Given the description of an element on the screen output the (x, y) to click on. 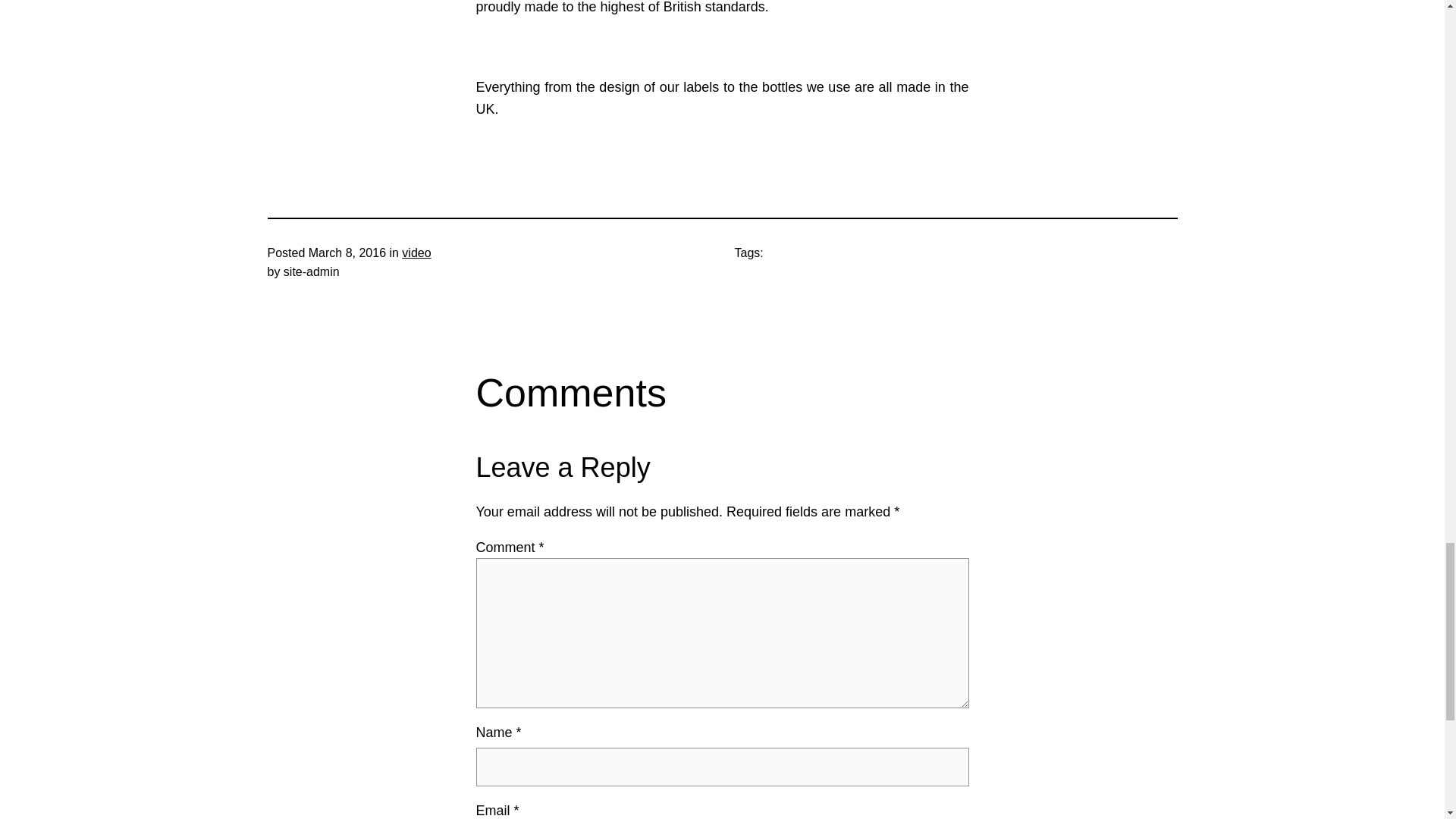
video (415, 252)
